Given the description of an element on the screen output the (x, y) to click on. 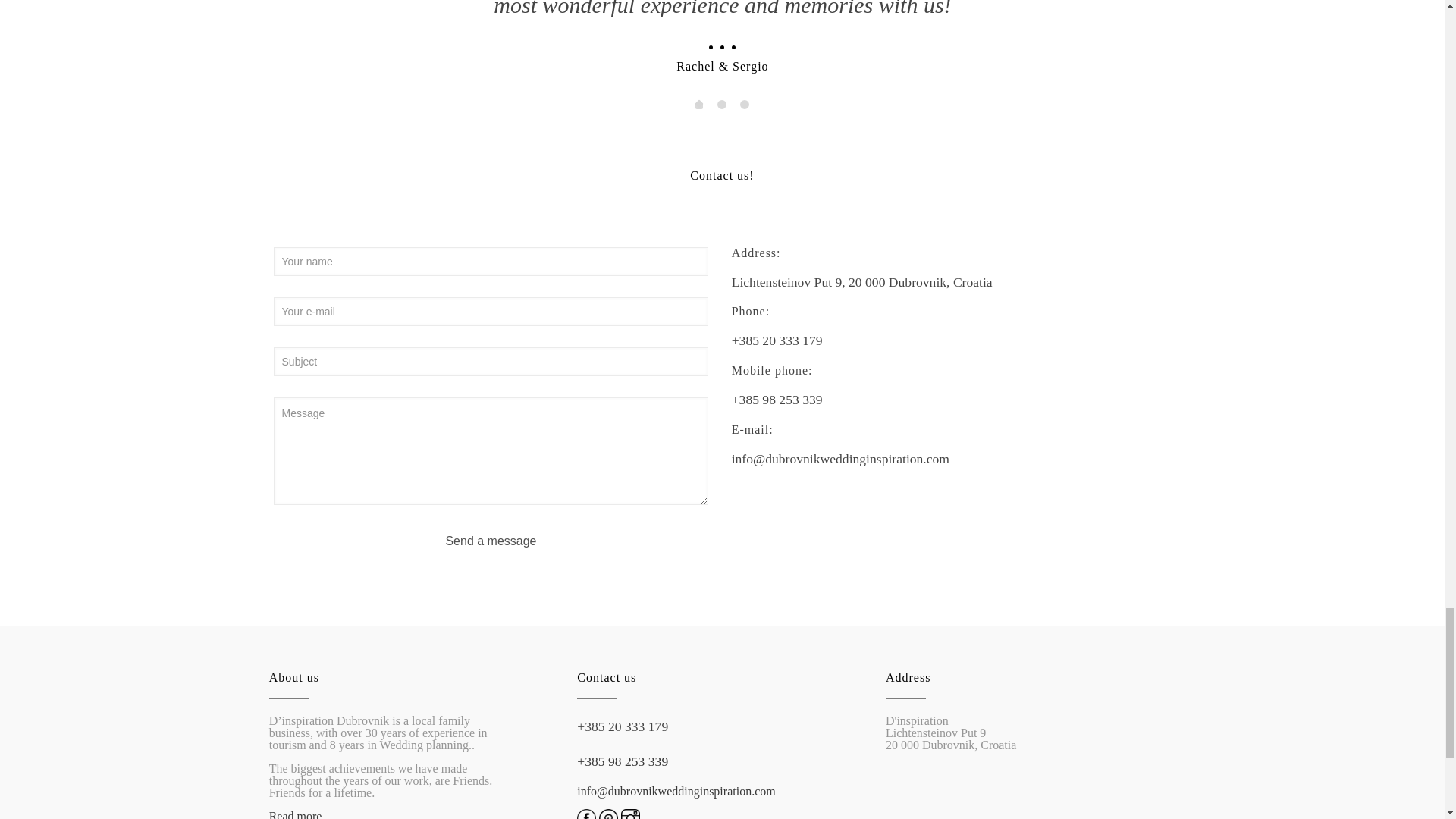
Send a message (491, 541)
